Given the description of an element on the screen output the (x, y) to click on. 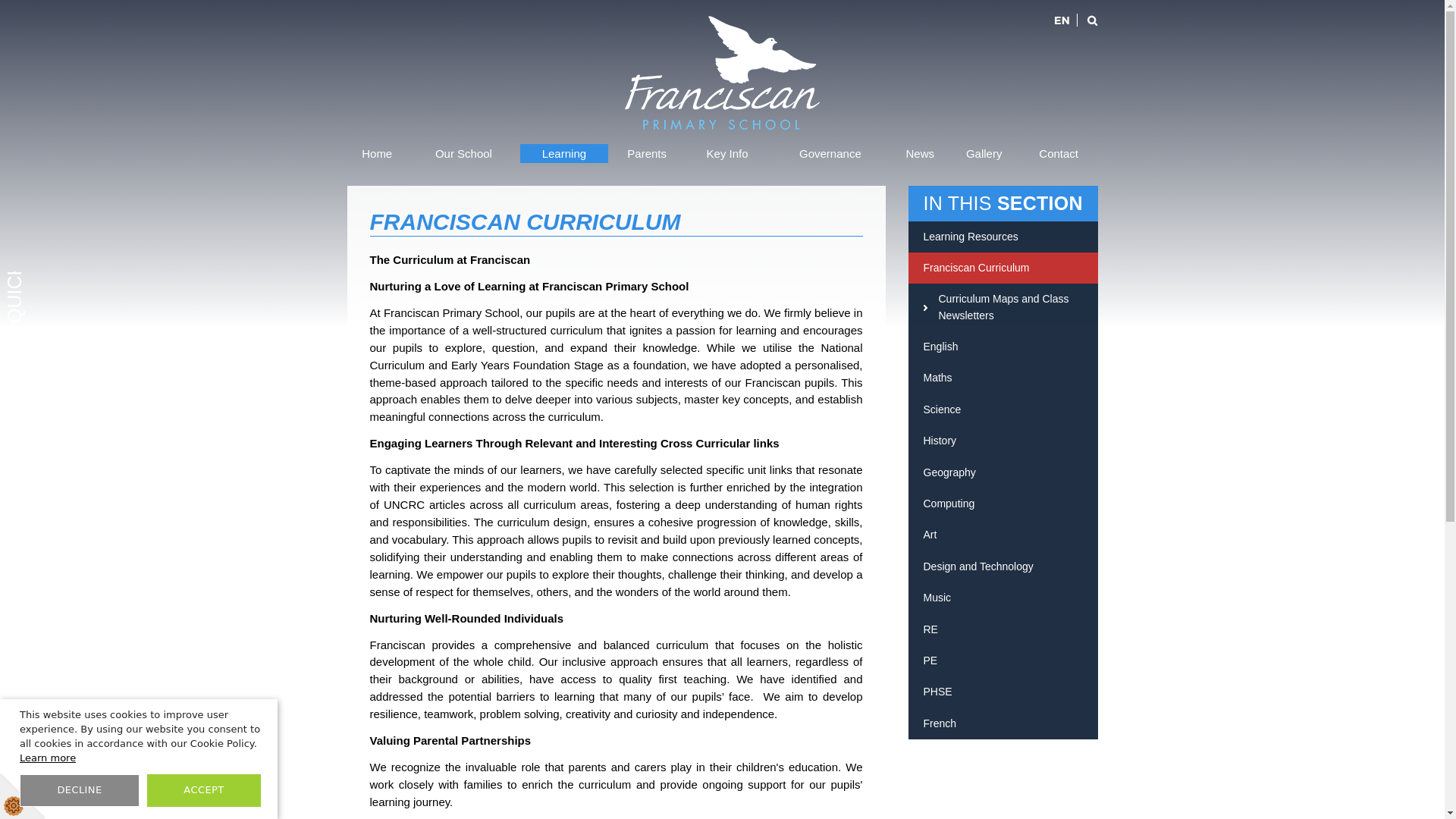
Learning (563, 153)
Parents (646, 153)
Our School (463, 153)
Home (377, 153)
